Given the description of an element on the screen output the (x, y) to click on. 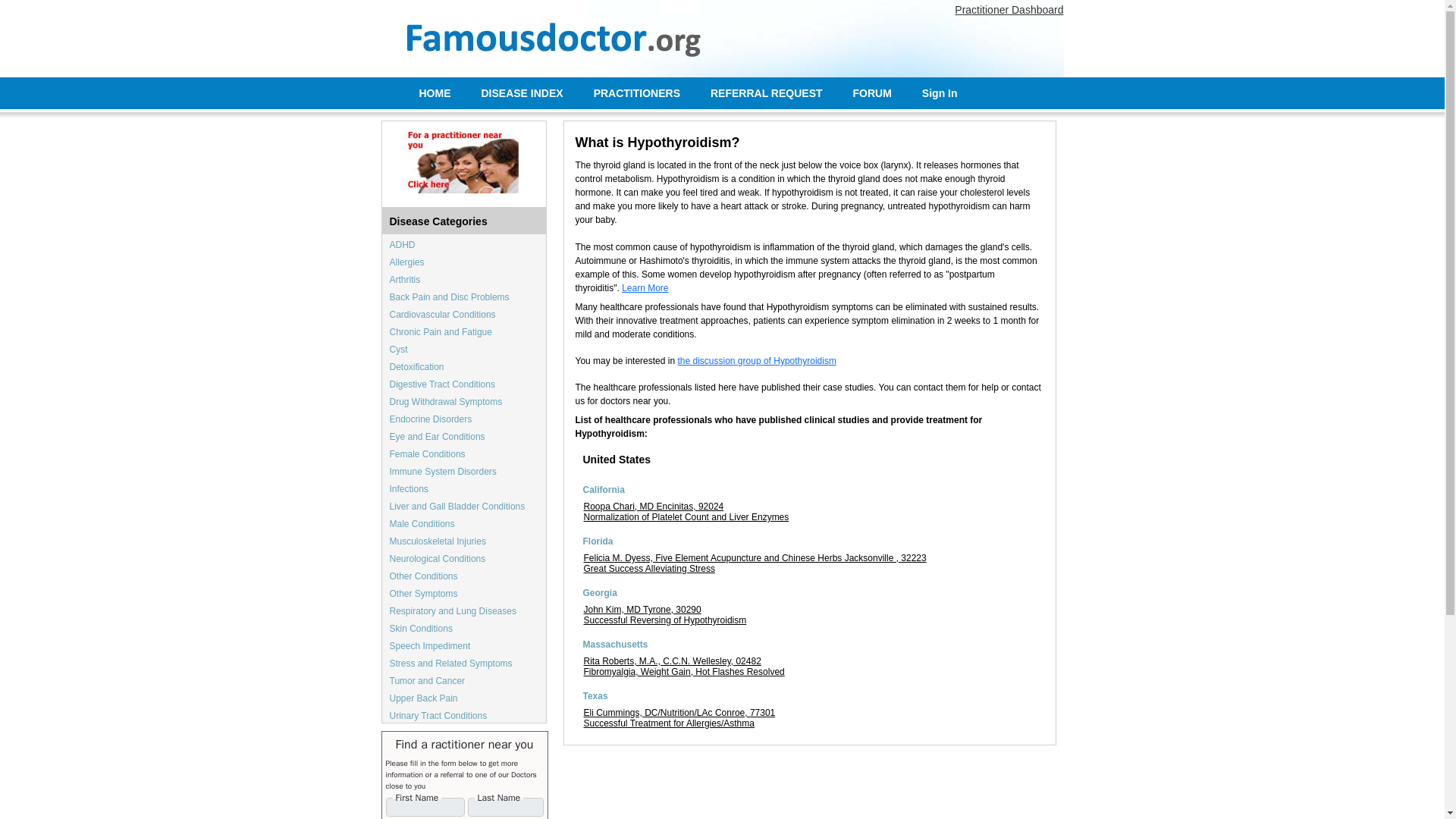
Back Pain and Disc Problems (449, 296)
Other Conditions (424, 575)
Detoxification (417, 366)
Male Conditions (422, 523)
Cardiovascular Conditions (443, 314)
PRACTITIONERS (636, 92)
Cyst (398, 348)
Liver and Gall Bladder Conditions (457, 506)
Upper Back Pain (424, 697)
Urinary Tract Conditions (438, 715)
